Given the description of an element on the screen output the (x, y) to click on. 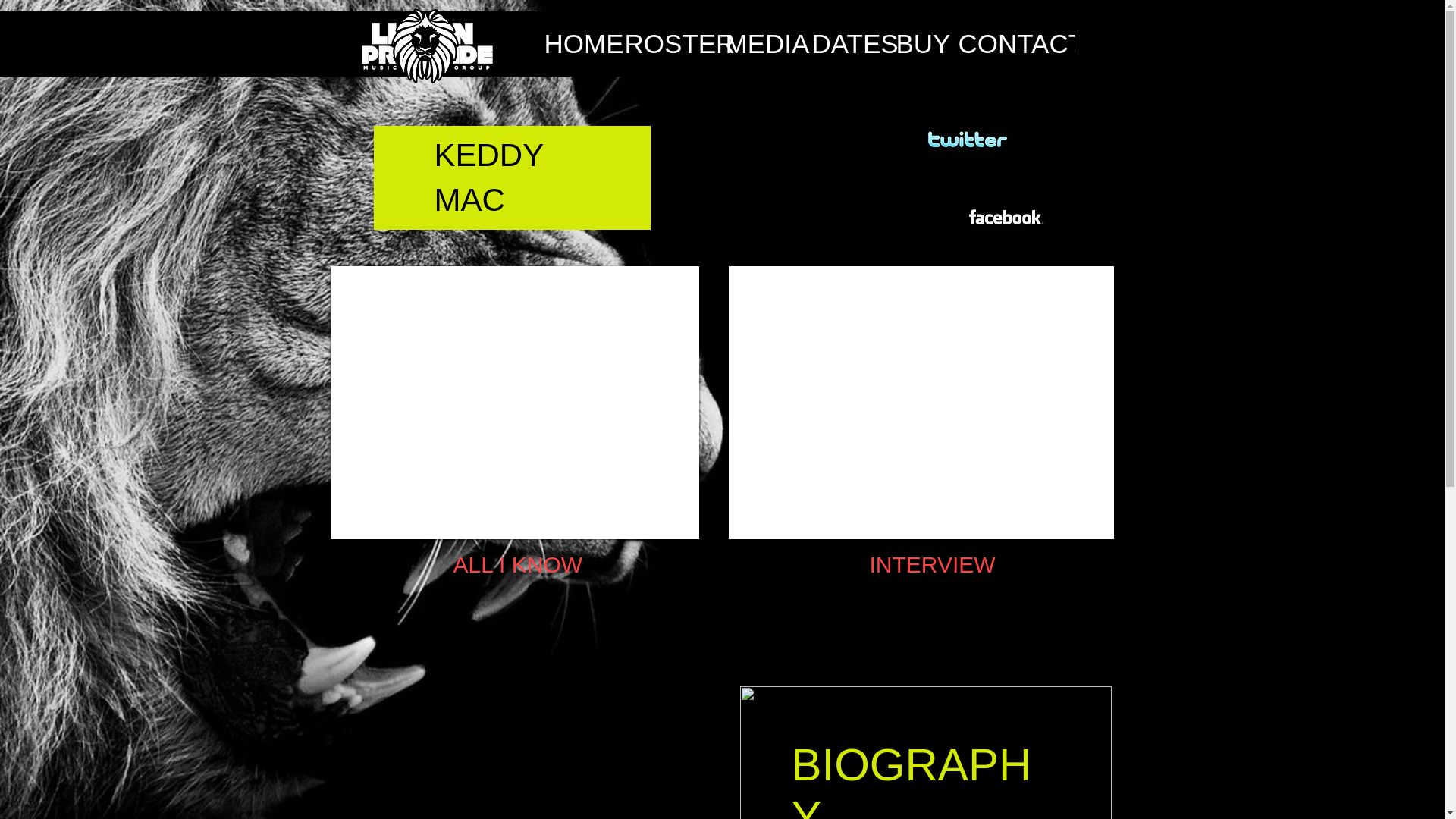
External YouTube (920, 402)
DATES (845, 43)
SoundCloud Player (532, 764)
BUY (919, 43)
SoundCloud Player (532, 649)
CONTACT (1007, 43)
External YouTube (514, 402)
MEDIA (760, 43)
ROSTER (667, 43)
facebook.jpg (1003, 216)
HOME (577, 43)
